Given the description of an element on the screen output the (x, y) to click on. 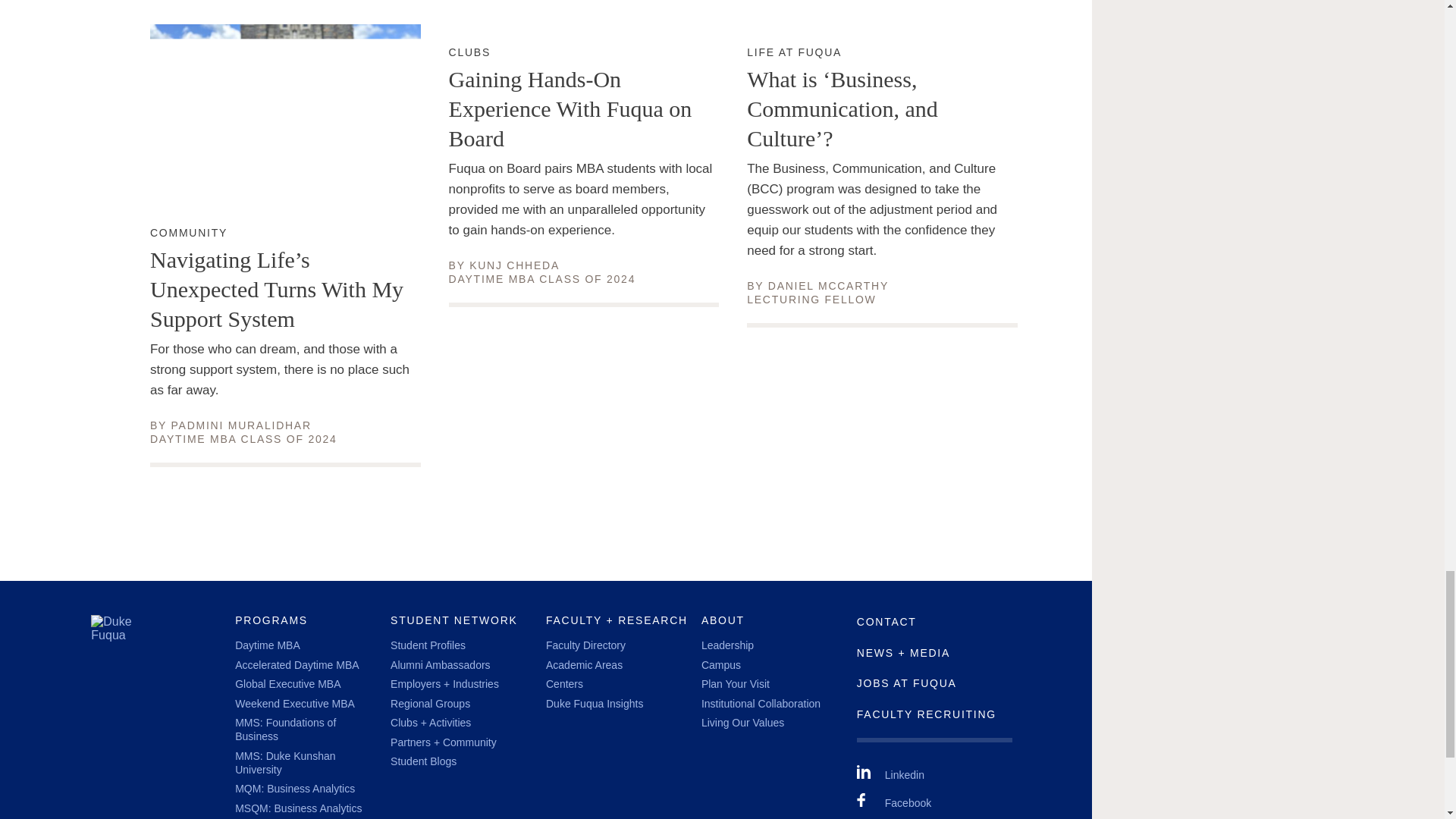
Global Executive MBA (469, 52)
Daytime MBA (287, 684)
MMS: Duke Kunshan University (828, 285)
Accelerated Daytime MBA (266, 645)
MMS: Foundations of Business (241, 425)
MSQM: Business Analytics (513, 265)
Weekend Executive MBA (284, 762)
MQM: Business Analytics (188, 233)
Gaining Hands-On Experience With Fuqua on Board (296, 664)
